Given the description of an element on the screen output the (x, y) to click on. 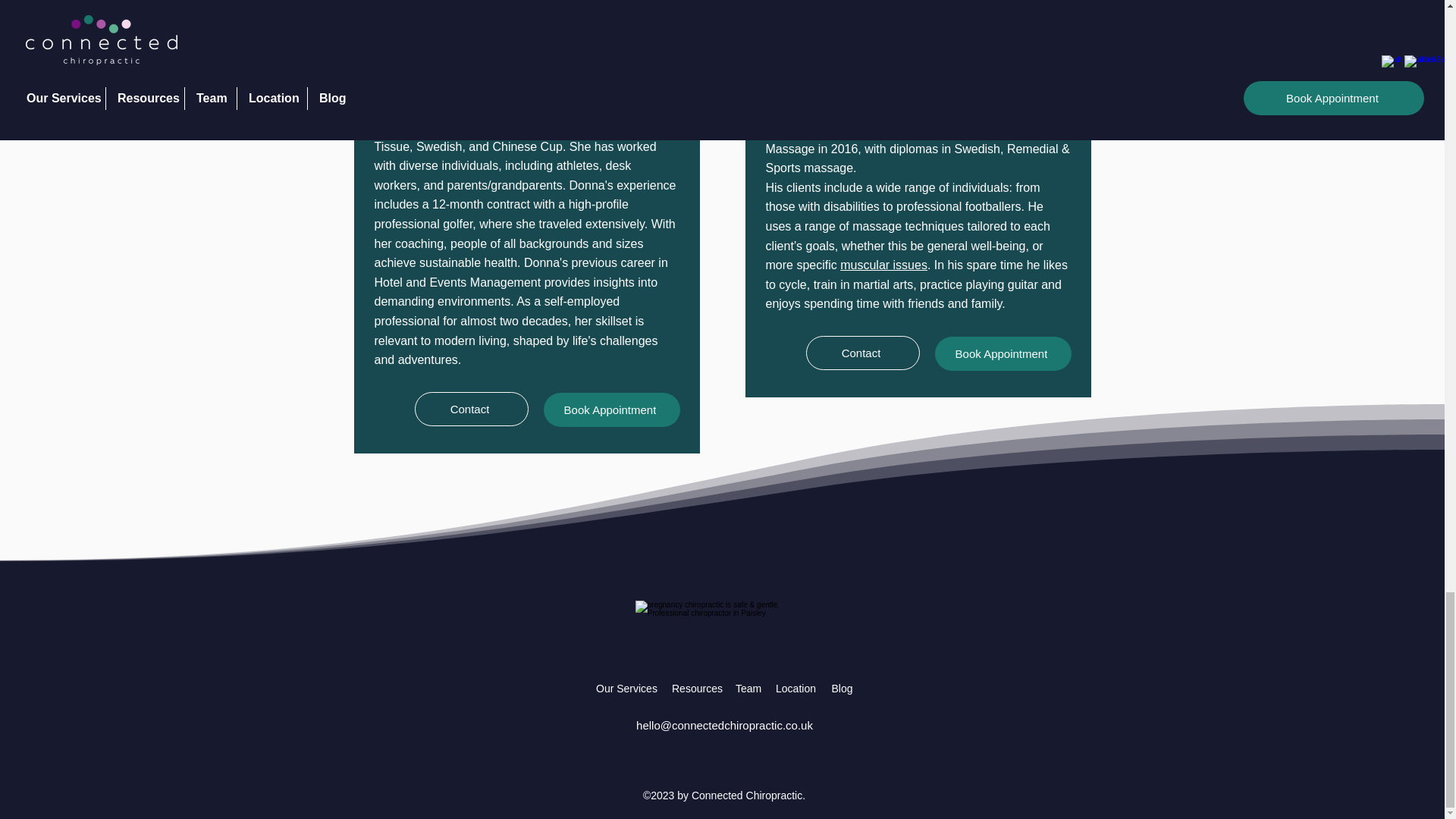
Contact (470, 408)
Contact (861, 352)
Resources (695, 688)
Book Appointment (1002, 353)
Location (796, 688)
Team (748, 688)
muscular issues (883, 264)
Blog (842, 688)
Book Appointment (611, 409)
